Given the description of an element on the screen output the (x, y) to click on. 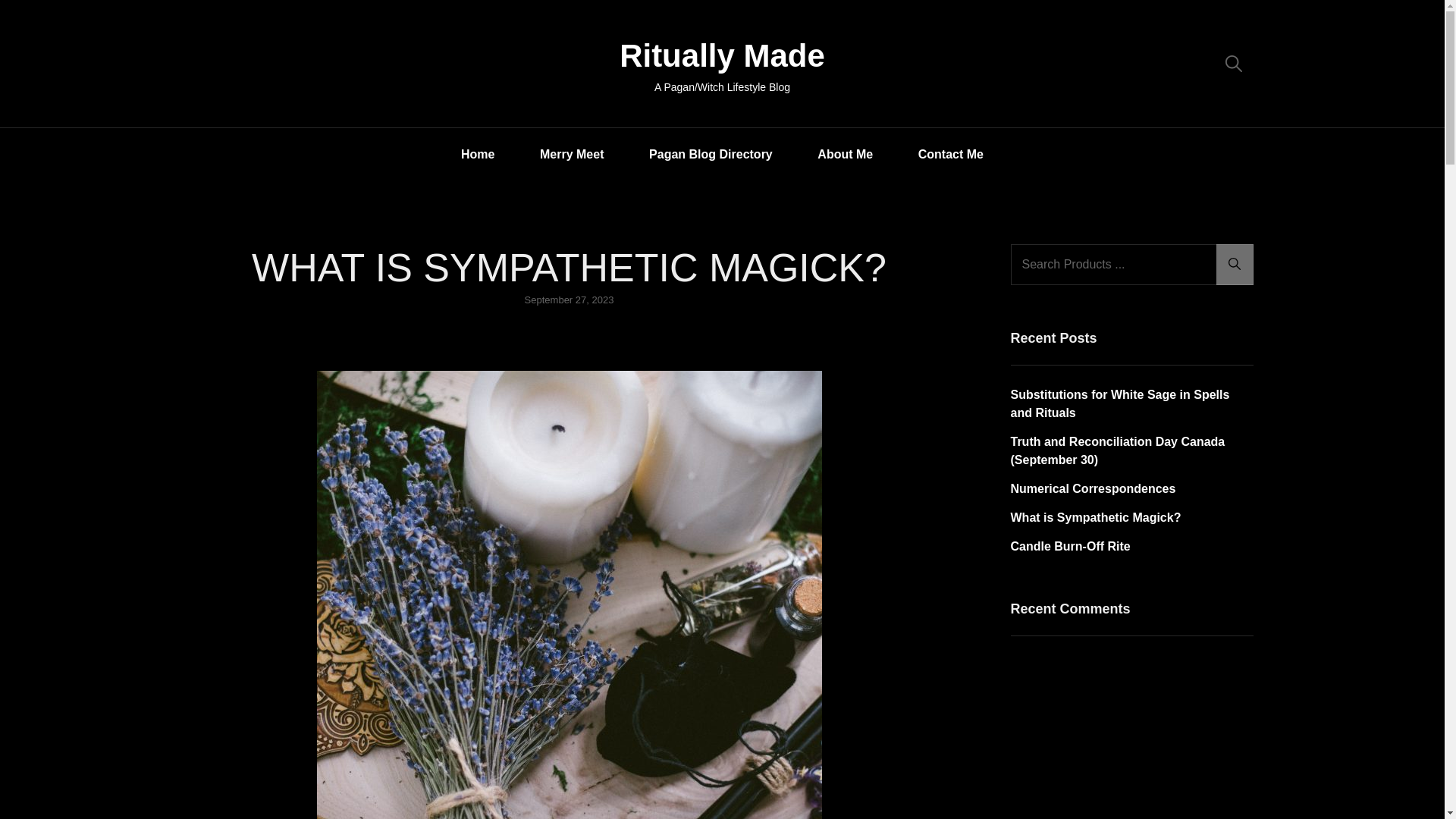
Ritually Made (722, 55)
Contact Me (951, 153)
Candle Burn-Off Rite (1069, 545)
Substitutions for White Sage in Spells and Rituals (1119, 403)
About Me (844, 153)
Search (1234, 264)
Pagan Blog Directory (710, 153)
Home (478, 153)
Numerical Correspondences (1092, 488)
What is Sympathetic Magick? (1095, 517)
